Given the description of an element on the screen output the (x, y) to click on. 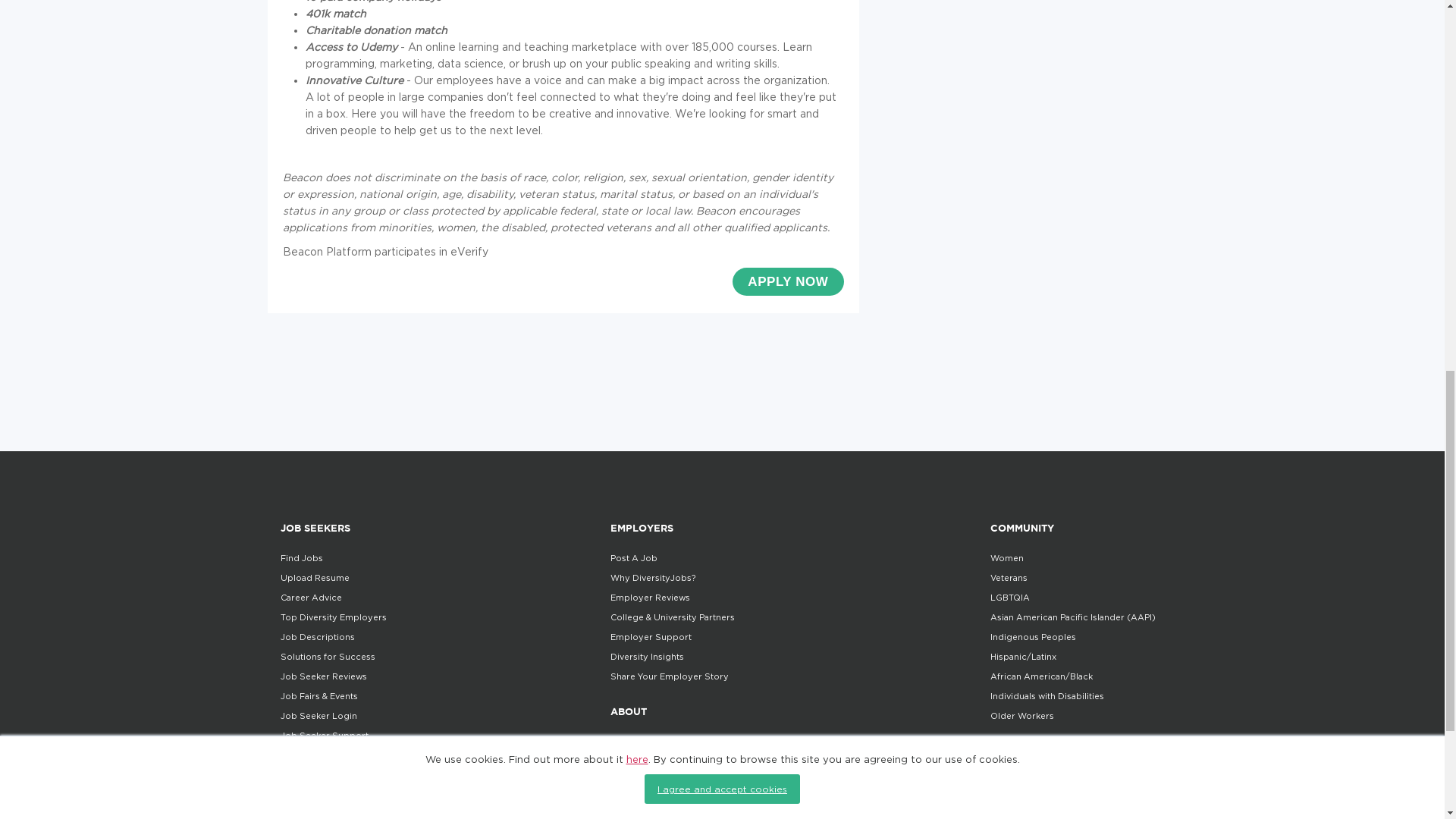
Apply Now (787, 281)
Apply Now (787, 281)
